Given the description of an element on the screen output the (x, y) to click on. 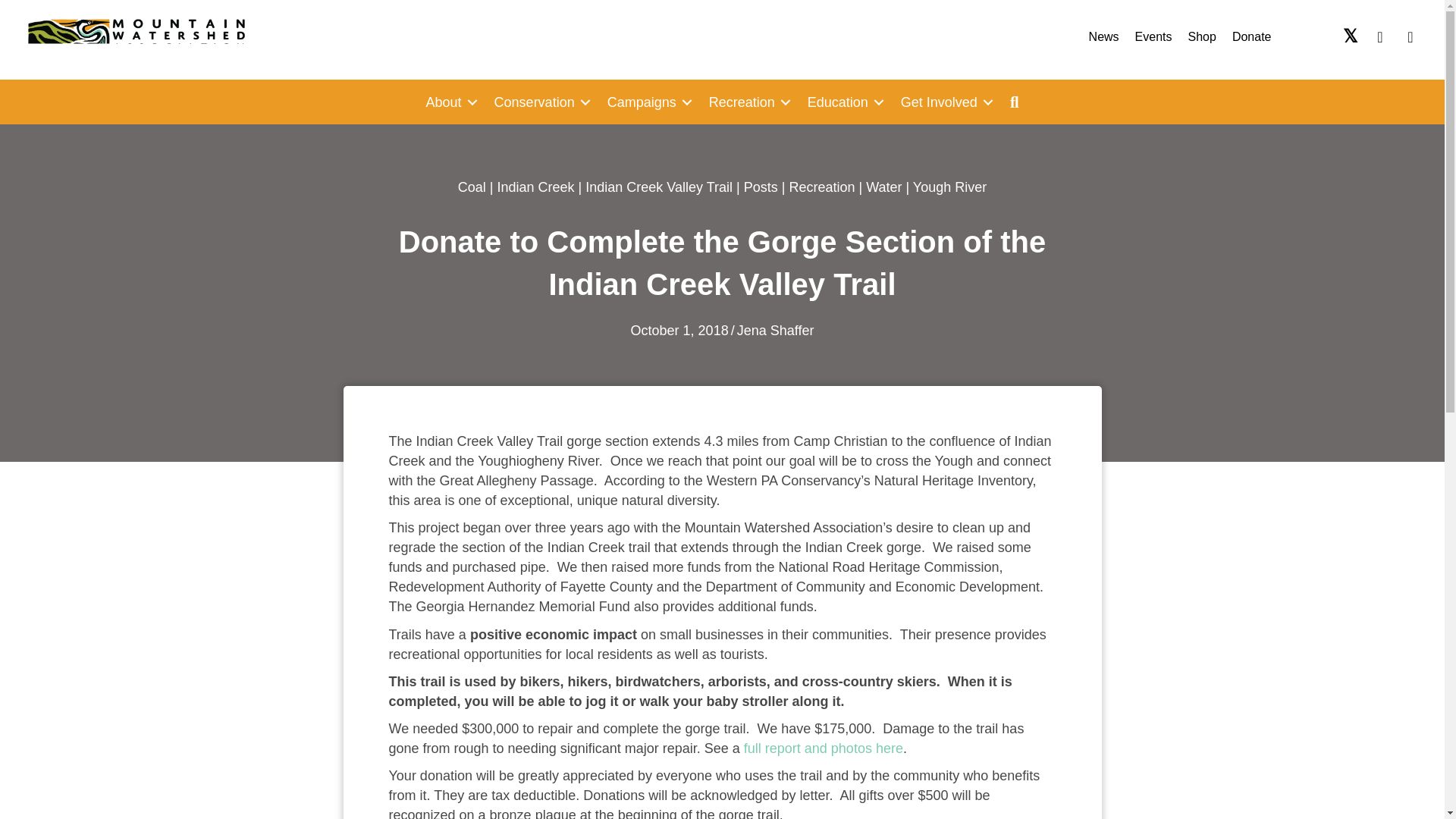
Donate (1251, 36)
Get Involved (943, 102)
Campaigns (646, 102)
Facebook (1379, 36)
Recreation (747, 102)
MWA Logo Final-04 (136, 39)
Twitter (1349, 36)
Events (1152, 36)
About (448, 102)
Conservation (539, 102)
